Given the description of an element on the screen output the (x, y) to click on. 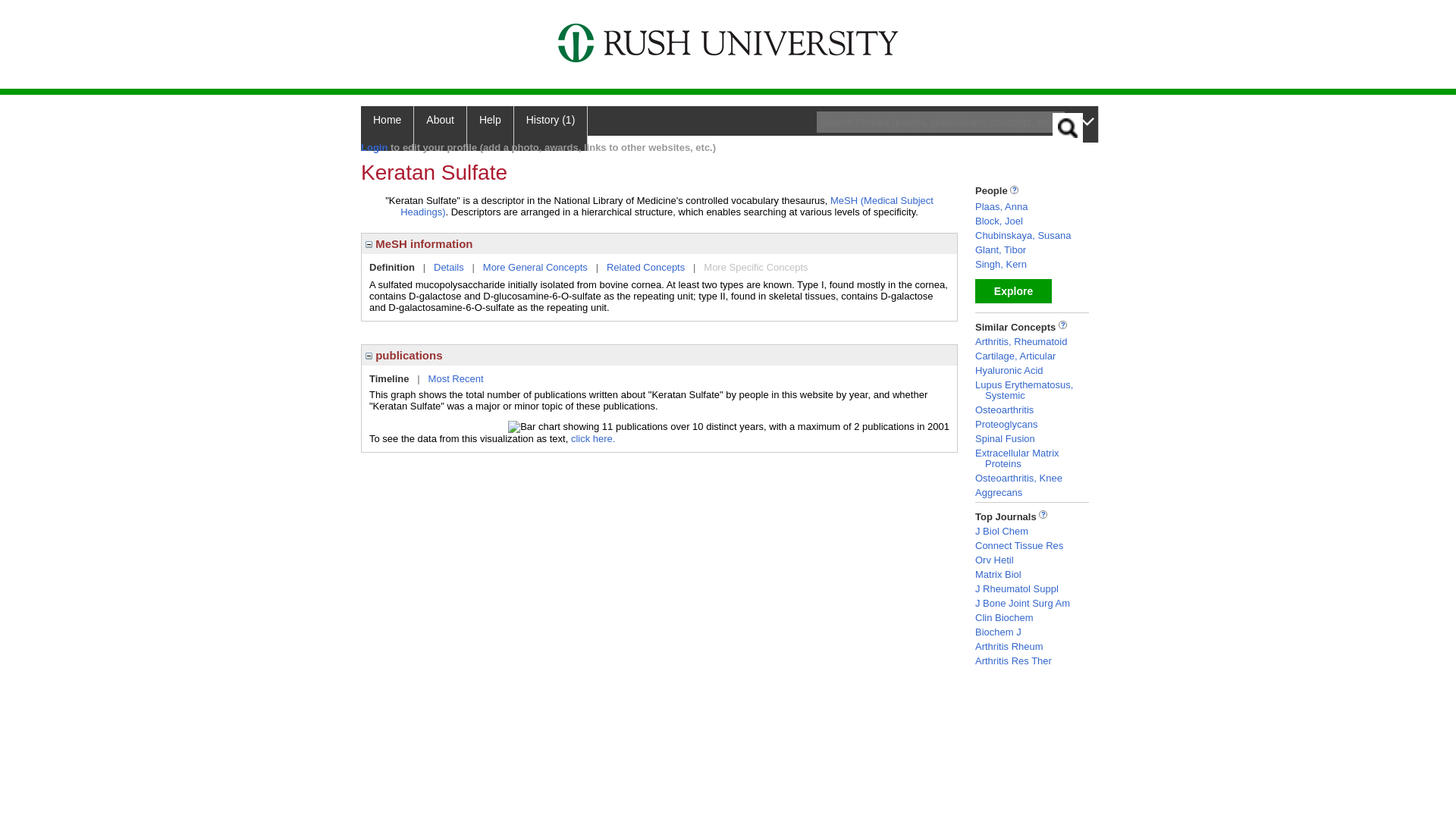
Details (448, 266)
About (440, 128)
Most Recent (455, 378)
click here. (592, 438)
Definition (391, 266)
More Specific Concepts (755, 266)
Timeline (389, 378)
Related Concepts (645, 266)
Home (387, 128)
Login (374, 147)
Help (490, 128)
More General Concepts (535, 266)
